Given the description of an element on the screen output the (x, y) to click on. 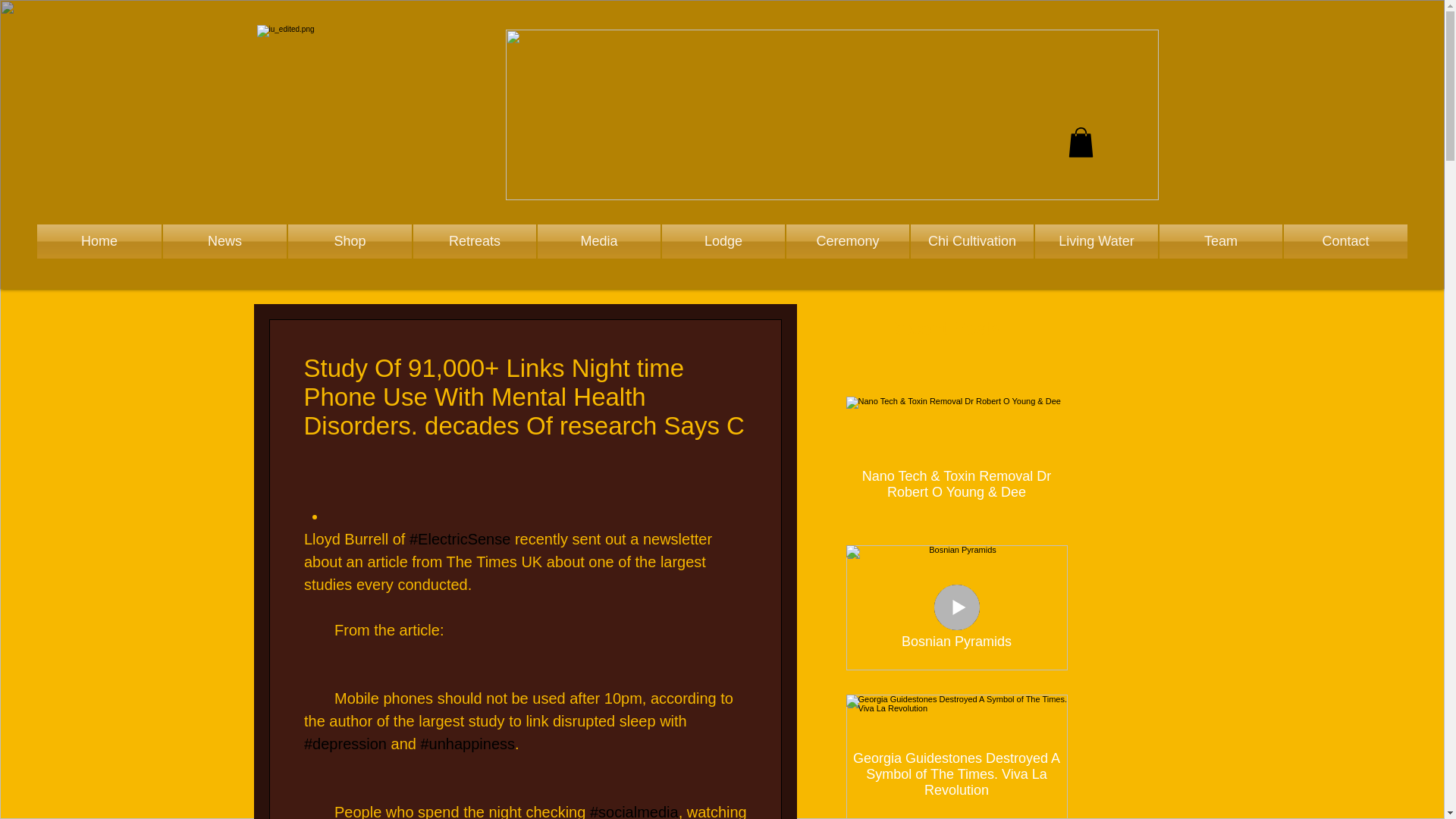
Contact (1344, 241)
Retreats (474, 241)
Shop (349, 241)
Living Water (1095, 241)
Media (599, 241)
Home (99, 241)
News (223, 241)
Team (1220, 241)
Bosnian Pyramids (955, 634)
Ceremony (848, 241)
